Given the description of an element on the screen output the (x, y) to click on. 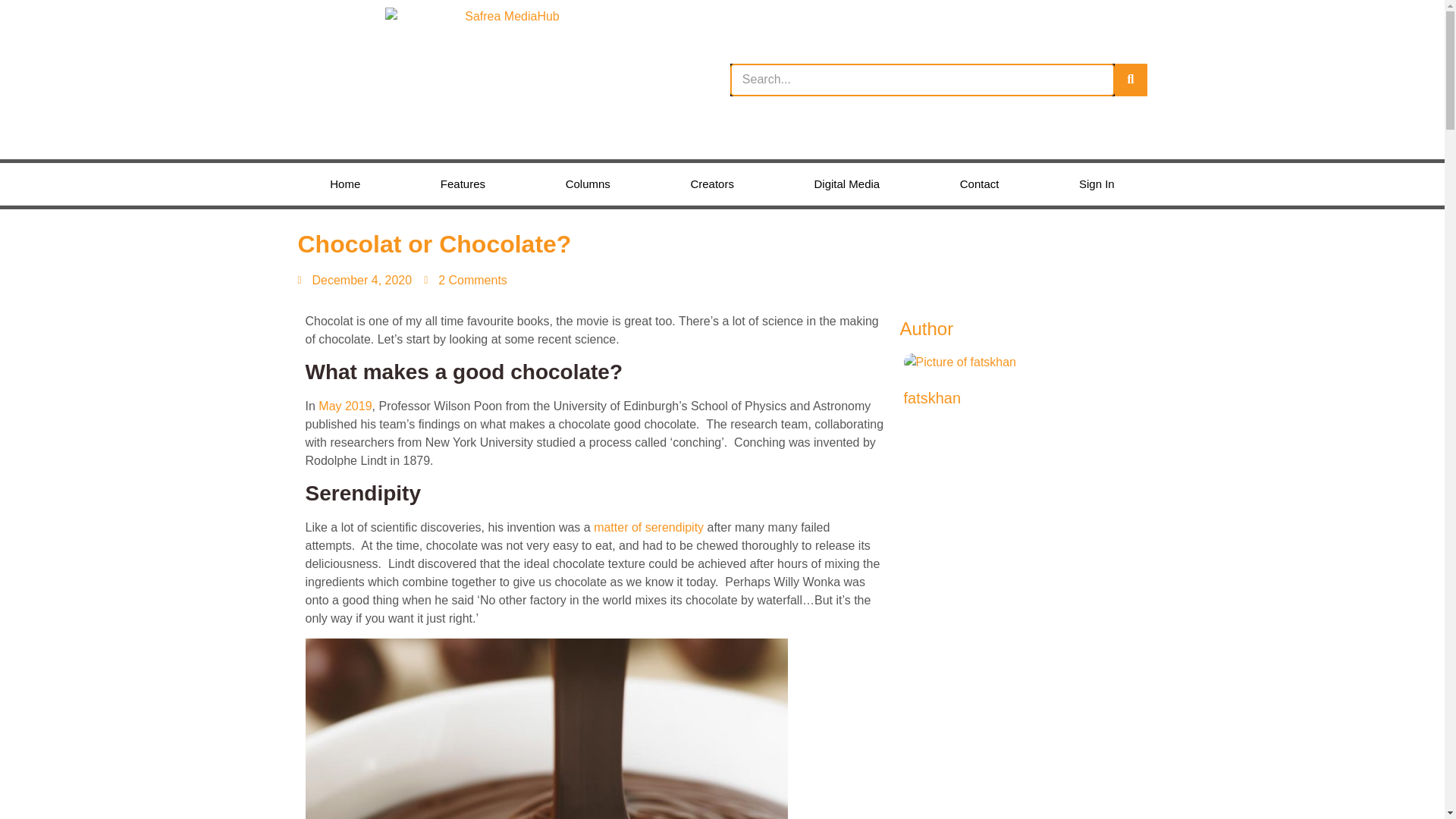
Creators (712, 183)
Home (344, 183)
Features (462, 183)
Columns (587, 183)
